Given the description of an element on the screen output the (x, y) to click on. 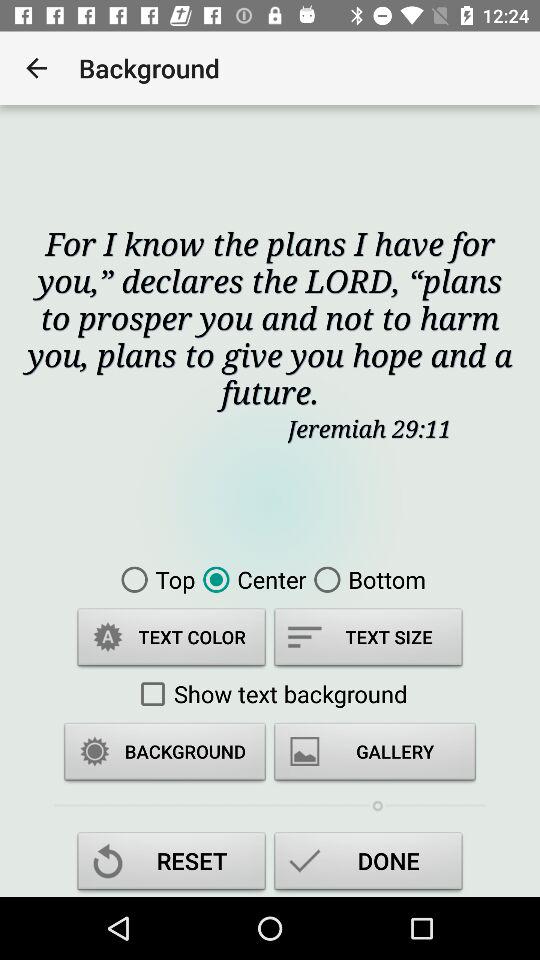
tap icon below the top item (171, 640)
